Given the description of an element on the screen output the (x, y) to click on. 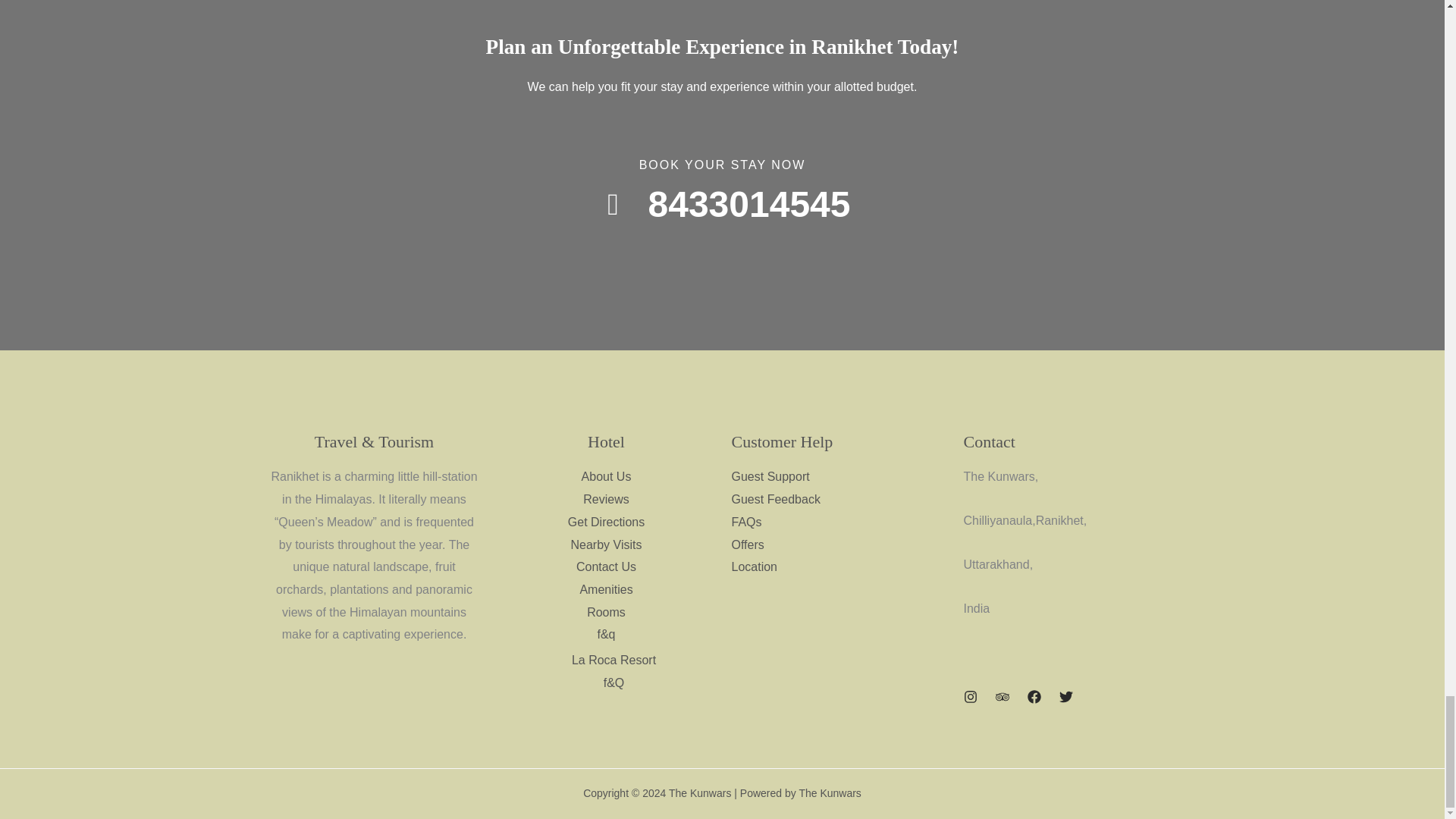
About Us (605, 476)
Nearby Visits (606, 544)
Amenities (605, 589)
Get Directions (606, 521)
Contact Us (606, 566)
Rooms (606, 612)
Reviews (605, 499)
